Given the description of an element on the screen output the (x, y) to click on. 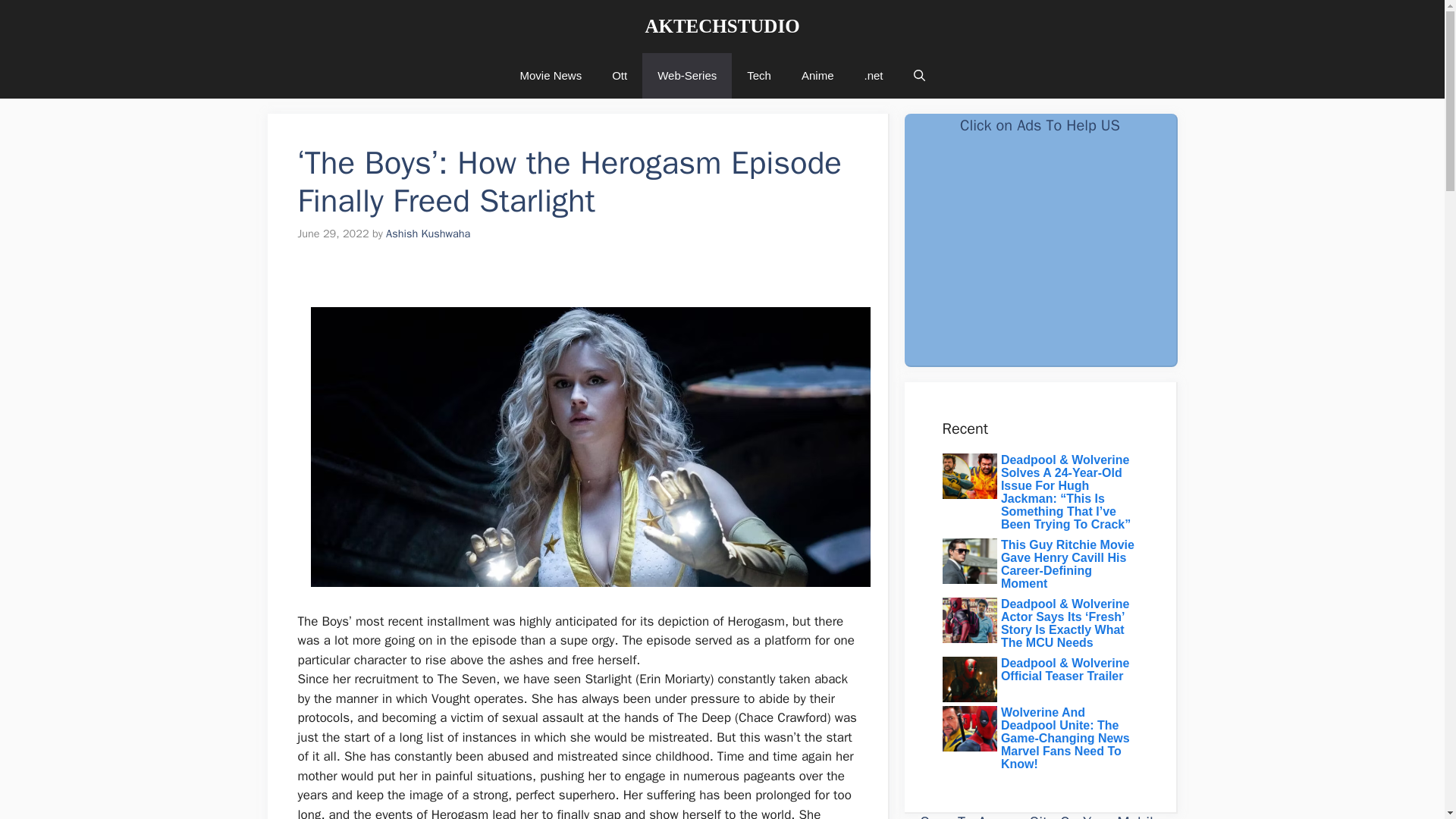
.net (873, 75)
Web-Series (687, 75)
Anime (817, 75)
Movie News (549, 75)
Ott (619, 75)
View all posts by Ashish Kushwaha (427, 233)
AKTECHSTUDIO (722, 25)
Ashish Kushwaha (427, 233)
Advertisement (1039, 255)
Tech (759, 75)
